Given the description of an element on the screen output the (x, y) to click on. 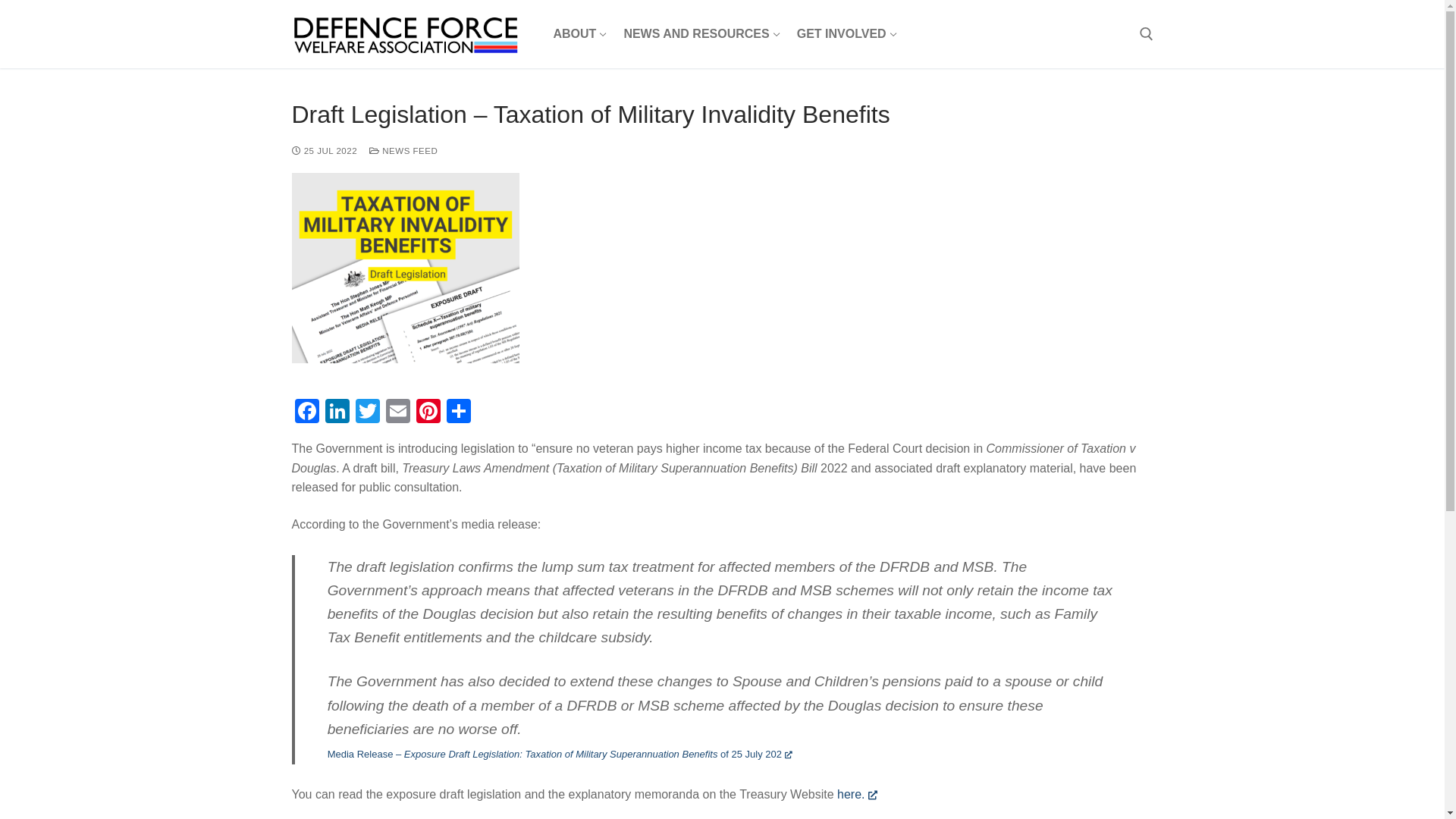
NEWS AND RESOURCES
  Element type: text (699, 33)
NEWS FEED Element type: text (403, 150)
25 JUL 2022 Element type: text (324, 150)
Share Element type: text (457, 412)
Pinterest Element type: text (427, 412)
Facebook Element type: text (306, 412)
here. Element type: text (857, 793)
LinkedIn Element type: text (336, 412)
Email Element type: text (397, 412)
GET INVOLVED
  Element type: text (845, 33)
ABOUT
  Element type: text (577, 33)
Twitter Element type: text (366, 412)
